Given the description of an element on the screen output the (x, y) to click on. 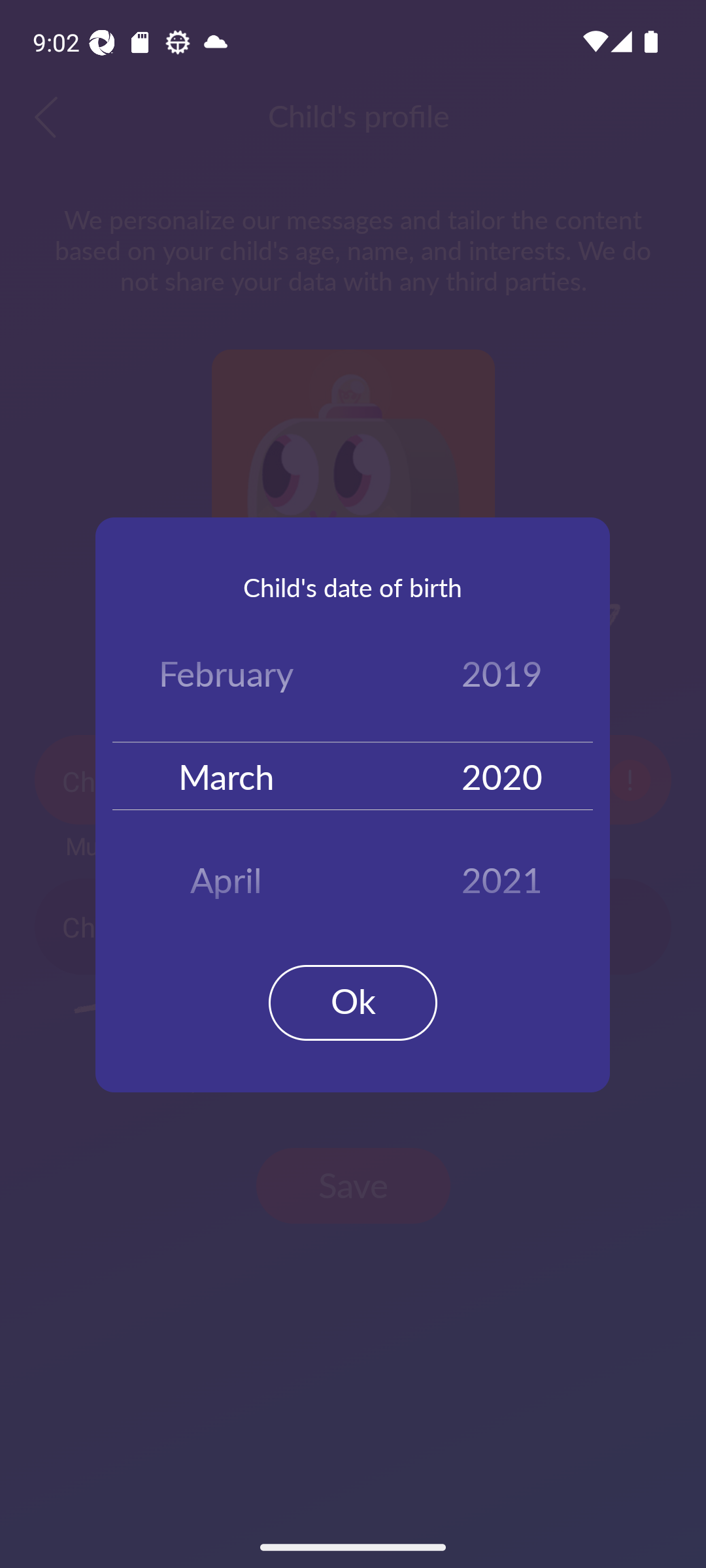
February (226, 676)
2019 (501, 676)
March (226, 774)
2020 (501, 774)
April (226, 872)
2021 (501, 872)
Ok (352, 1002)
